Given the description of an element on the screen output the (x, y) to click on. 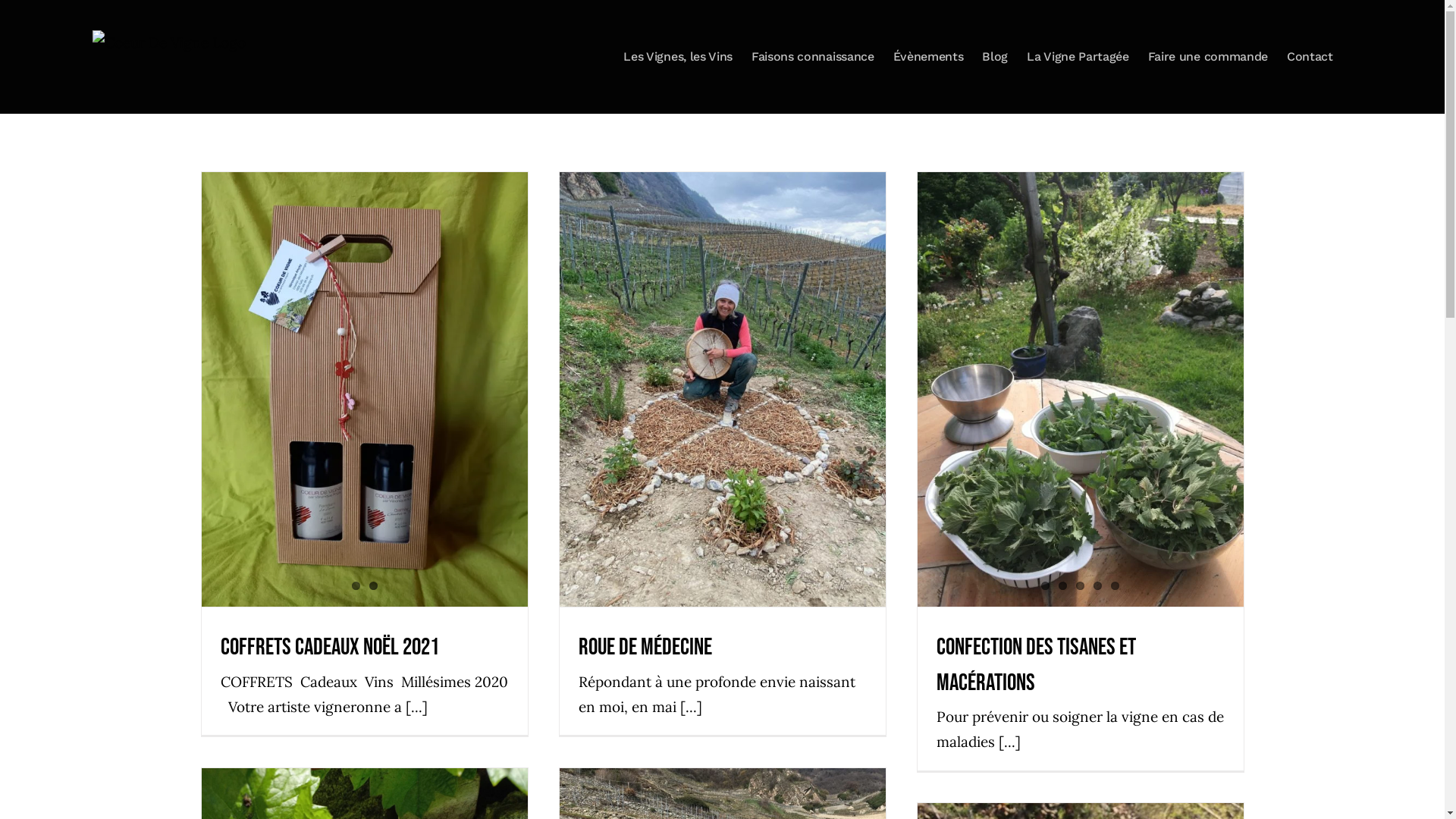
1 Element type: text (355, 585)
5 Element type: text (1114, 585)
2 Element type: text (1062, 585)
Blog Element type: text (994, 56)
1 Element type: text (1045, 585)
Faire une commande Element type: text (1207, 56)
4 Element type: text (1097, 585)
3 Element type: text (1080, 585)
Les Vignes, les Vins Element type: text (677, 56)
Faisons connaissance Element type: text (812, 56)
2 Element type: text (373, 585)
Contact Element type: text (1309, 56)
